Given the description of an element on the screen output the (x, y) to click on. 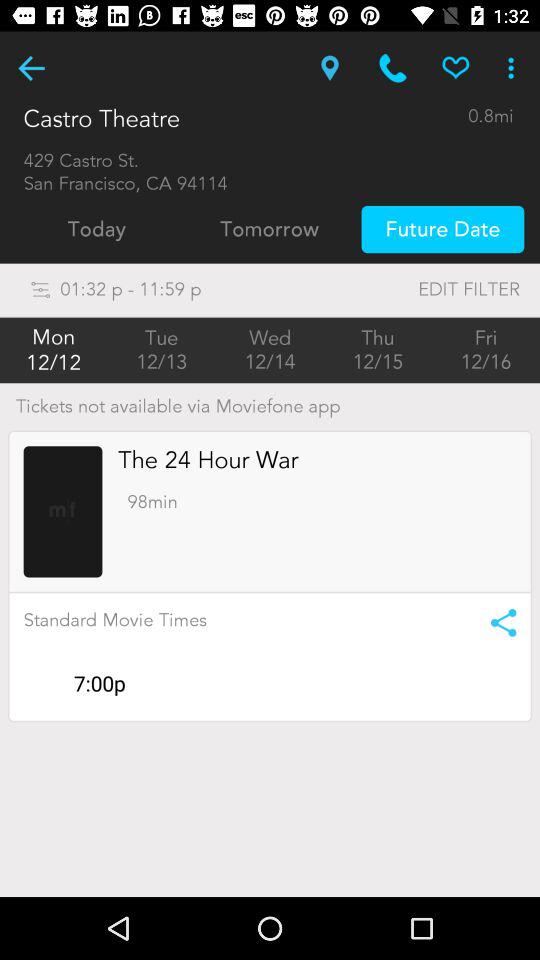
share link (496, 622)
